Given the description of an element on the screen output the (x, y) to click on. 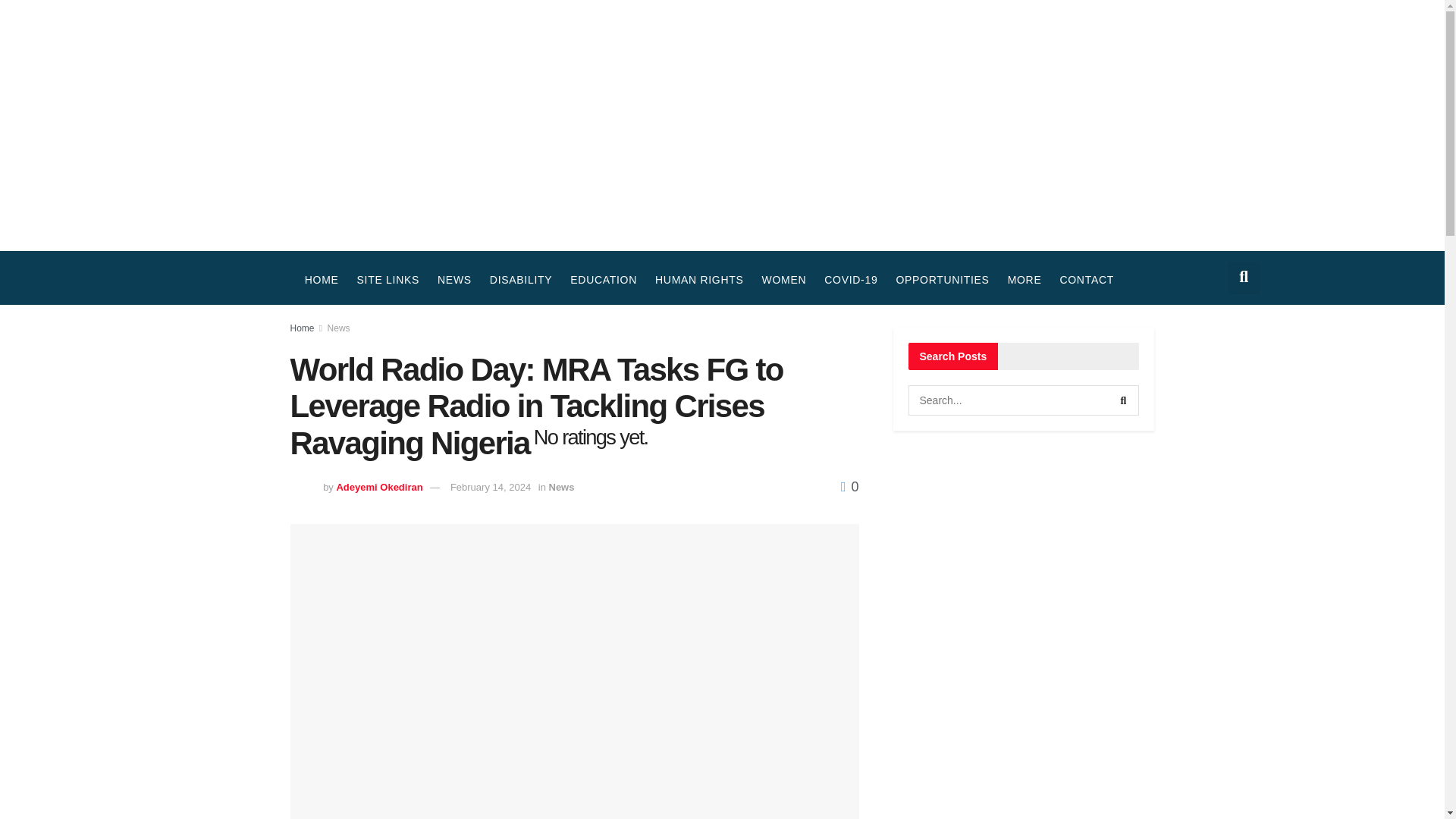
CONTACT (1086, 279)
EDUCATION (603, 279)
OPPORTUNITIES (941, 279)
COVID-19 (850, 279)
HOME (321, 279)
HUMAN RIGHTS (699, 279)
SITE LINKS (387, 279)
MORE (1024, 279)
NEWS (454, 279)
WOMEN (783, 279)
DISABILITY (520, 279)
